Given the description of an element on the screen output the (x, y) to click on. 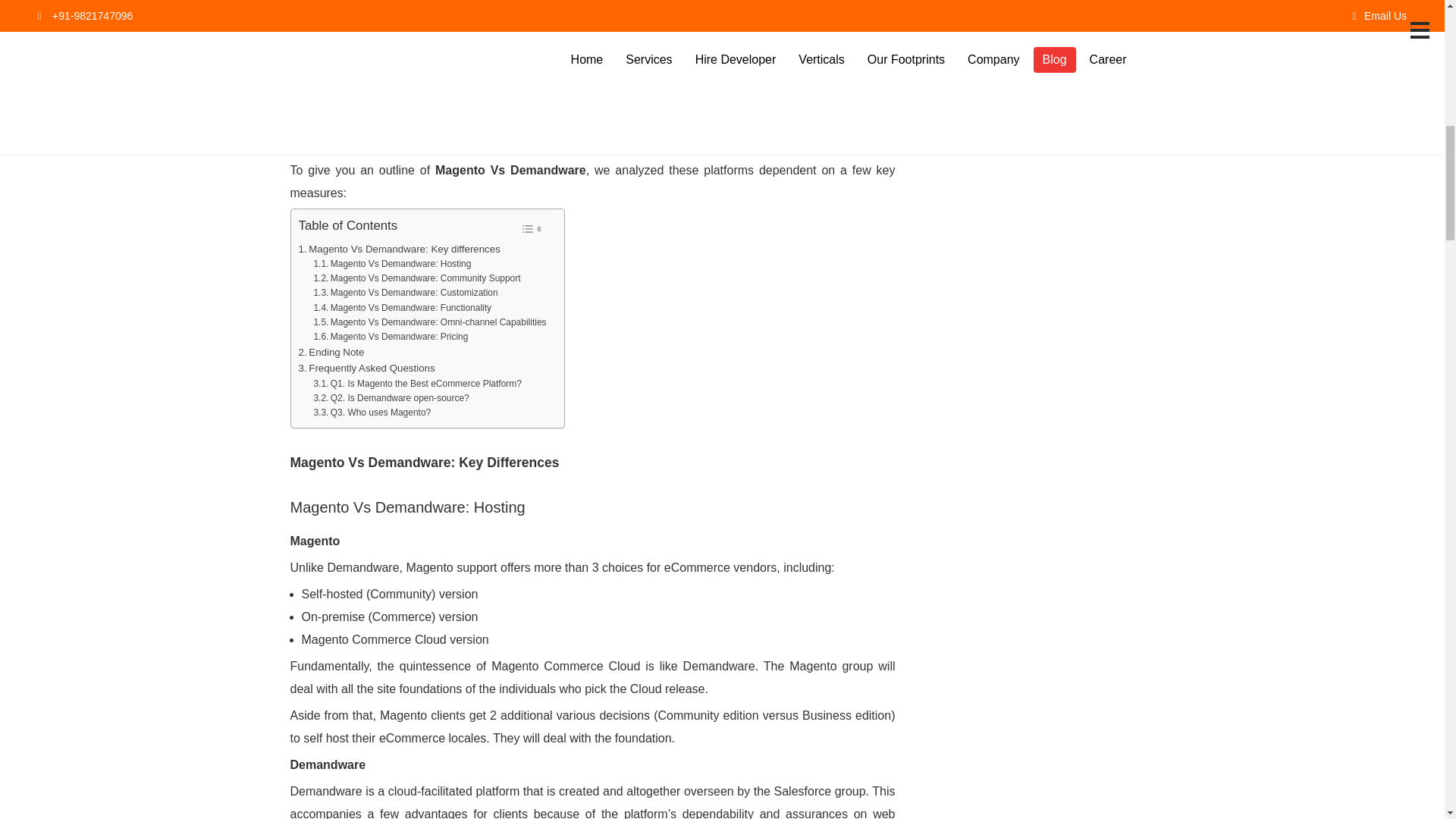
Frequently Asked Questions (366, 367)
Q3. Who uses Magento? (371, 412)
Ending Note (331, 351)
Magento Vs Demandware: Key differences (399, 248)
Magento Vs Demandware: Customization (405, 292)
Q1. Is Magento the Best eCommerce Platform? (417, 383)
Magento Vs Demandware: Pricing (390, 336)
